Given the description of an element on the screen output the (x, y) to click on. 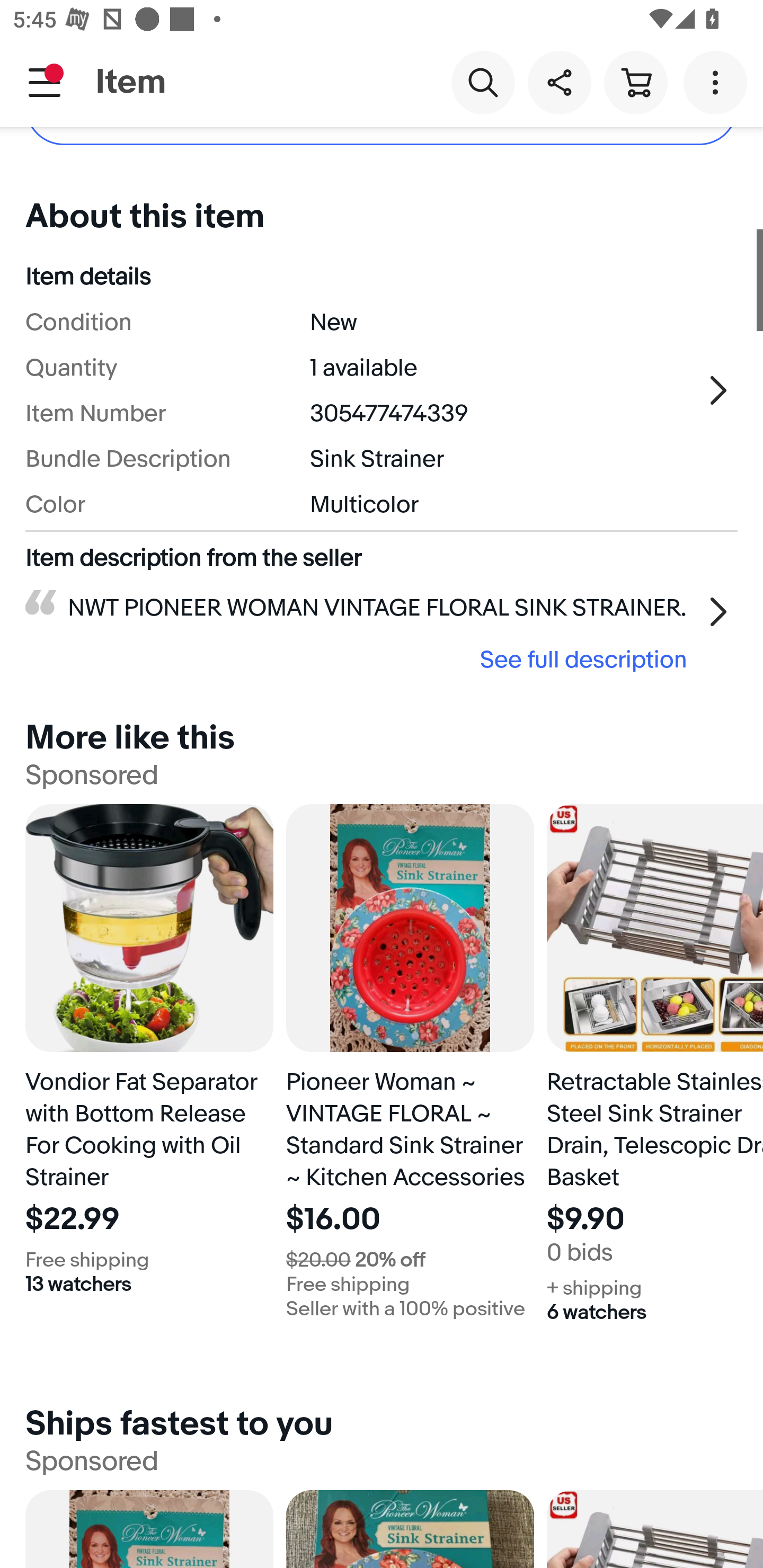
Main navigation, notification is pending, open (44, 82)
Search (482, 81)
Share this item (559, 81)
Cart button shopping cart (635, 81)
More options (718, 81)
See full description (362, 658)
